Given the description of an element on the screen output the (x, y) to click on. 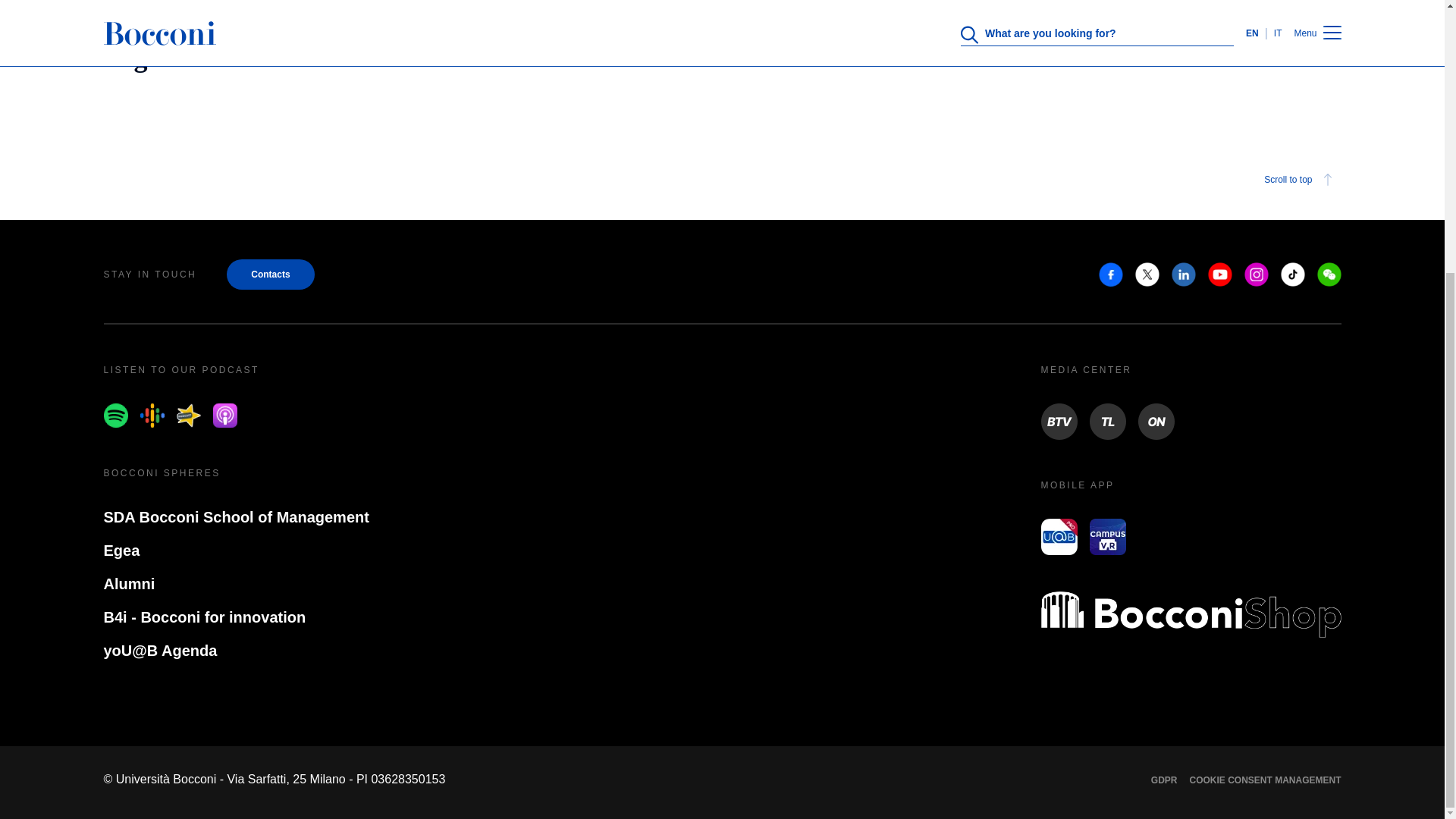
BTV (1059, 421)
Instagram (1255, 274)
Scroll to top (1299, 179)
Spotify (115, 415)
Tiktok (1291, 274)
Facebook (1109, 274)
Weechat (1328, 274)
TL (1107, 421)
Scroll to top (721, 179)
Apple podcast (223, 415)
